Given the description of an element on the screen output the (x, y) to click on. 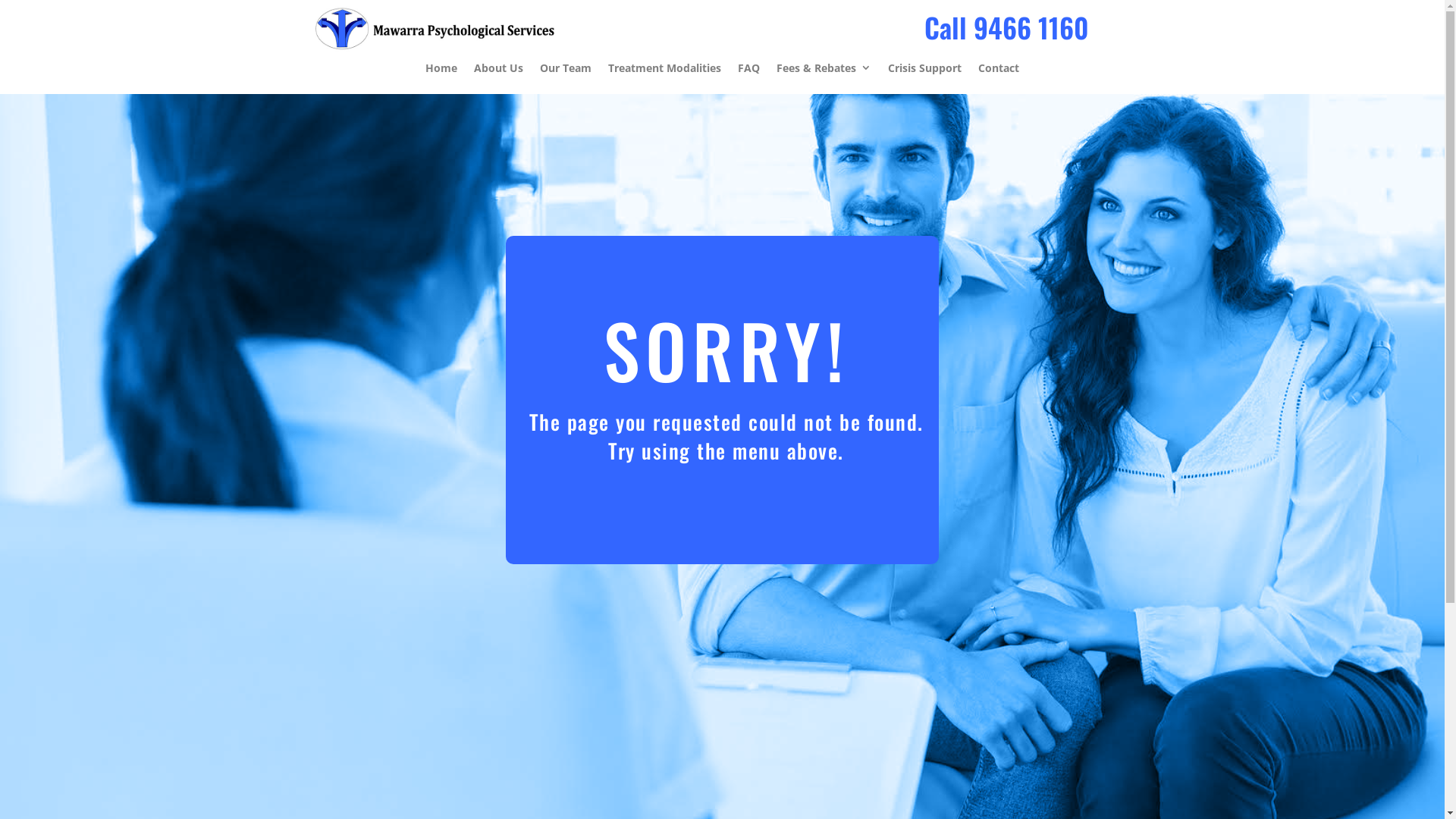
Treatment Modalities Element type: text (664, 71)
Fees & Rebates Element type: text (823, 71)
Our Team Element type: text (565, 71)
FAQ Element type: text (748, 71)
Crisis Support Element type: text (924, 71)
About Us Element type: text (498, 71)
Contact Element type: text (998, 71)
Home Element type: text (441, 71)
